Given the description of an element on the screen output the (x, y) to click on. 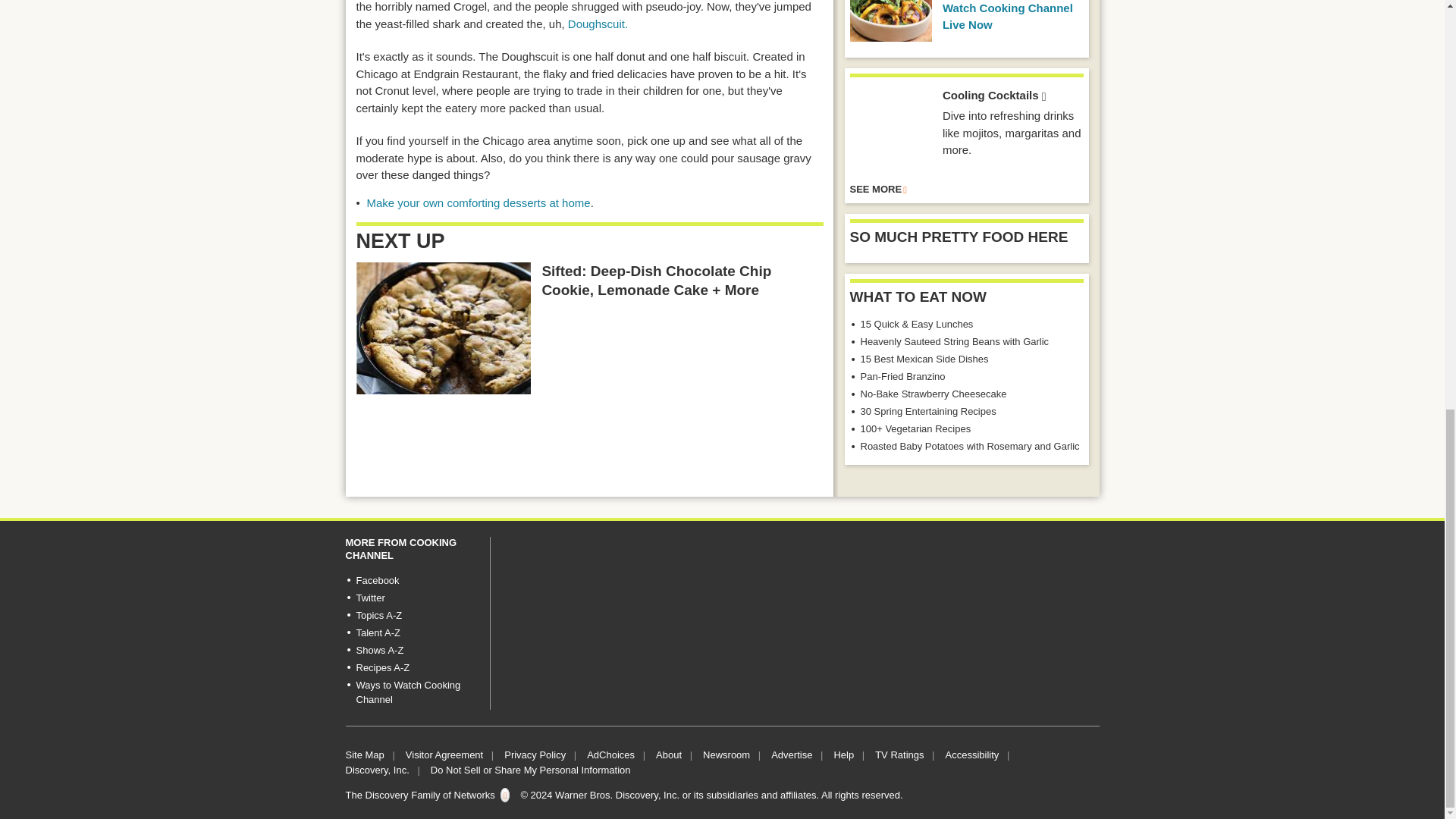
Make your own comforting desserts at home (478, 202)
Cooling Cocktails (889, 128)
Doughscuit.  (598, 23)
